Given the description of an element on the screen output the (x, y) to click on. 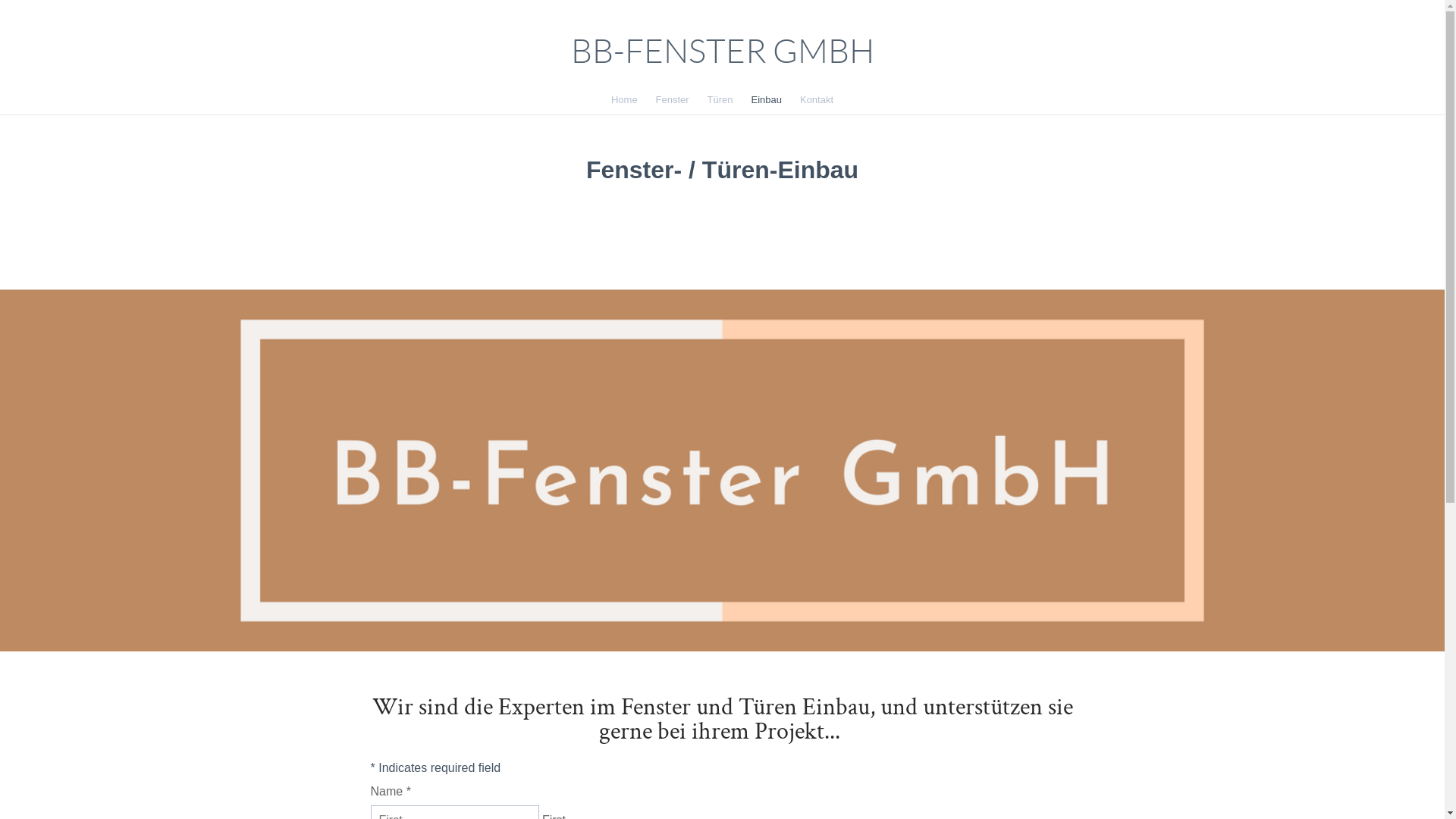
BB-FENSTER GMBH Element type: text (721, 50)
Fenster Element type: text (672, 99)
Einbau Element type: text (766, 99)
Kontakt Element type: text (816, 99)
Home Element type: text (623, 99)
